Given the description of an element on the screen output the (x, y) to click on. 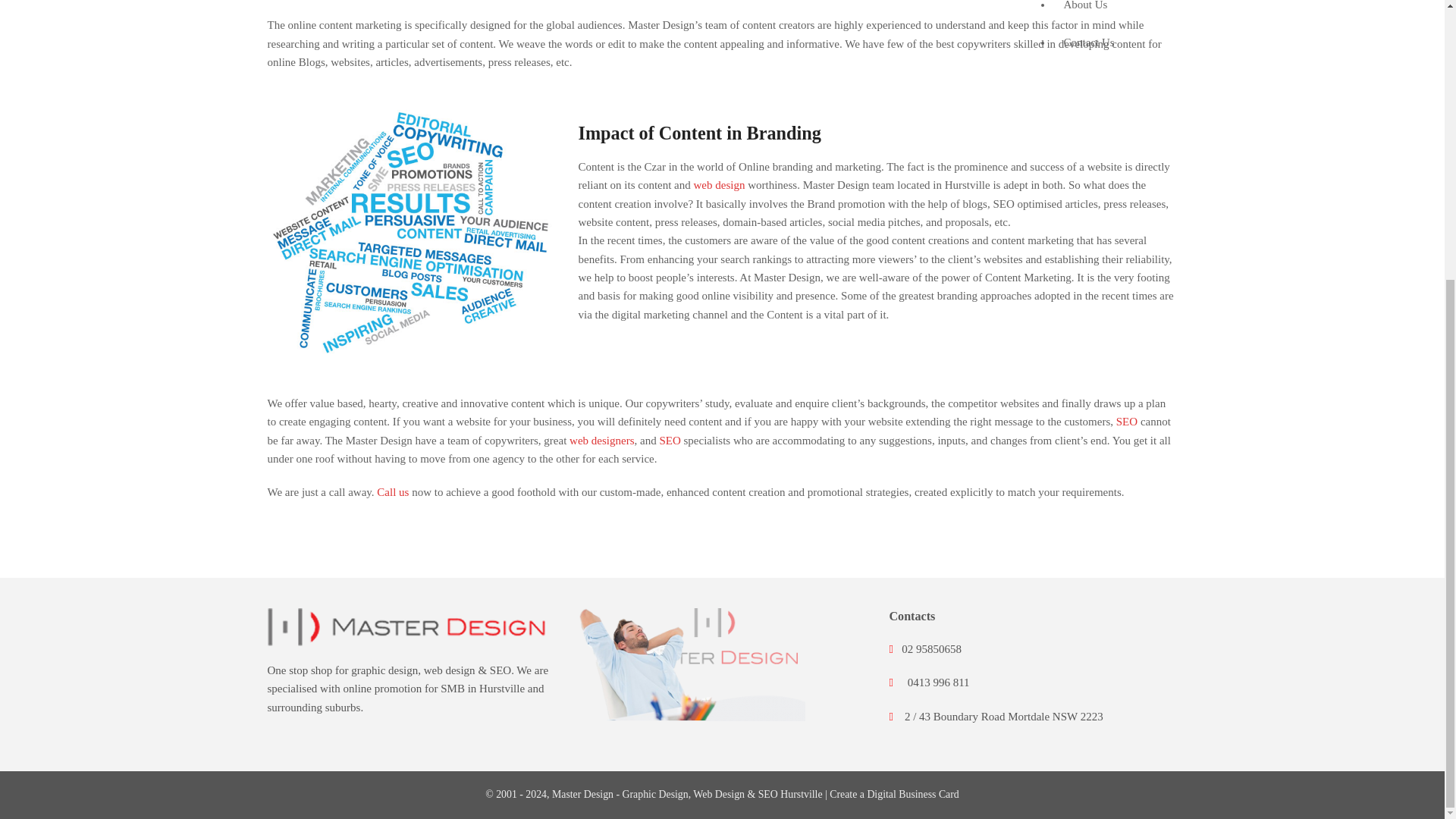
web designers (601, 440)
Call us (393, 491)
web design (719, 184)
Contact Us (1120, 42)
graphic design hurstville (655, 794)
Master Design (581, 794)
SEO (1126, 421)
web design hurstville (581, 794)
SEO hurstville (767, 794)
0413 996 811 (938, 682)
SEO (669, 440)
web design (449, 670)
About Us (1120, 11)
Create a Digital Business Card (894, 794)
graphic design (383, 670)
